Given the description of an element on the screen output the (x, y) to click on. 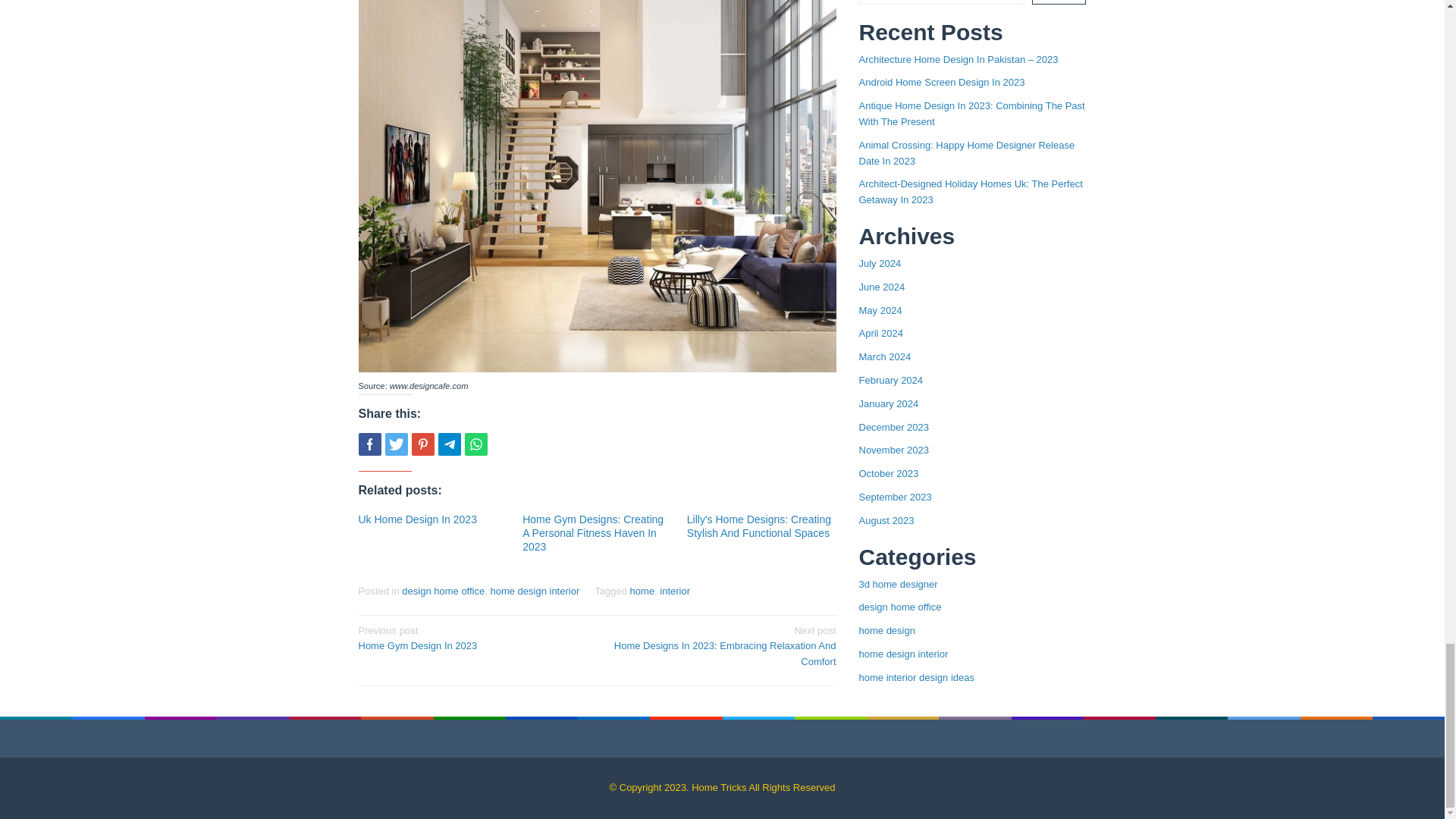
Permalink to: Uk Home Design In 2023 (417, 519)
Telegram Share (449, 444)
home design interior (534, 591)
Whatsapp (475, 444)
design home office (442, 591)
home (642, 591)
Home Gym Designs: Creating A Personal Fitness Haven In 2023 (592, 532)
